Given the description of an element on the screen output the (x, y) to click on. 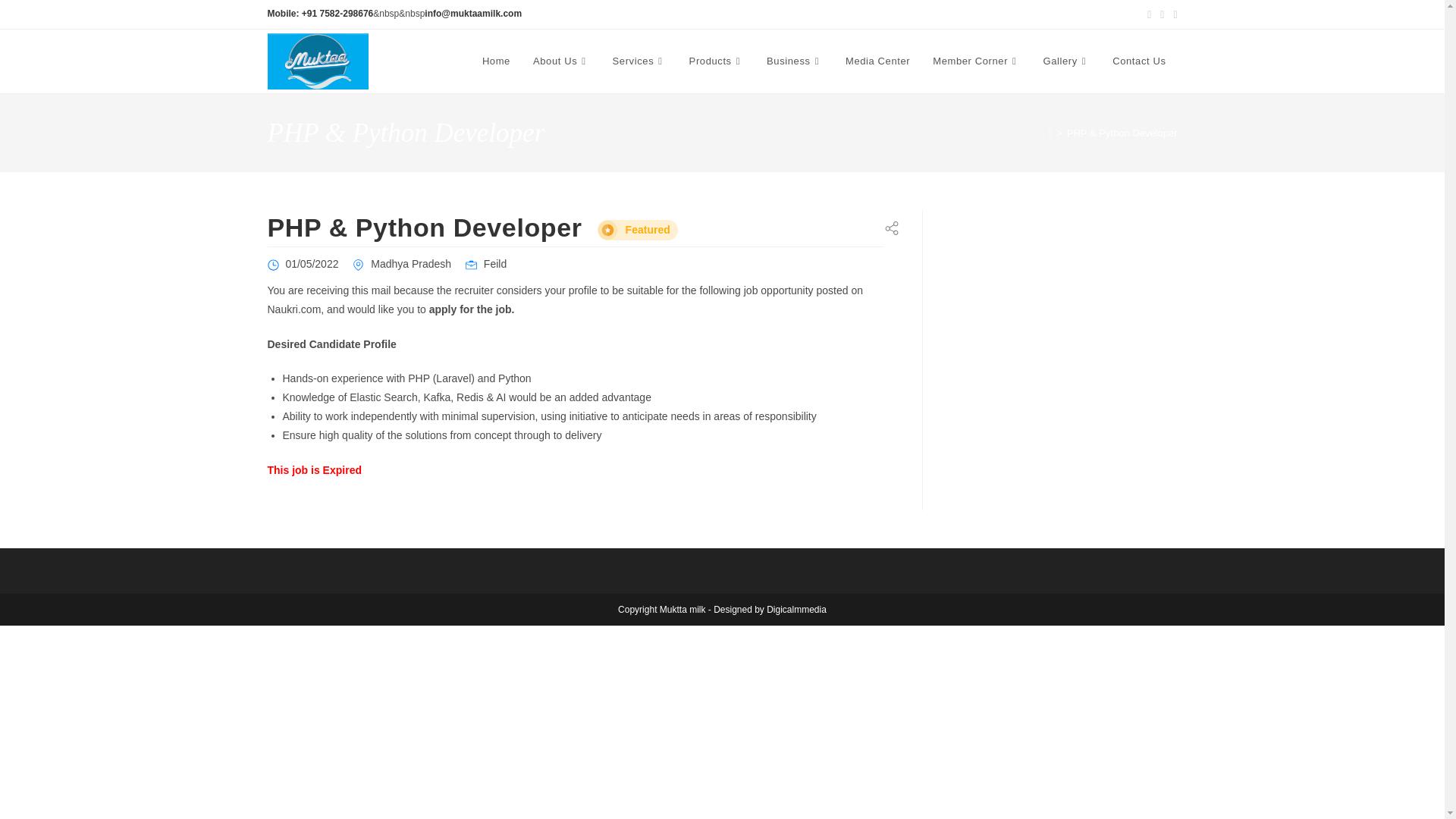
Contact Us (1138, 61)
About Us (561, 61)
Member Corner (975, 61)
Business (794, 61)
Services (639, 61)
Media Center (877, 61)
Products (716, 61)
Gallery (1065, 61)
Home (495, 61)
